Given the description of an element on the screen output the (x, y) to click on. 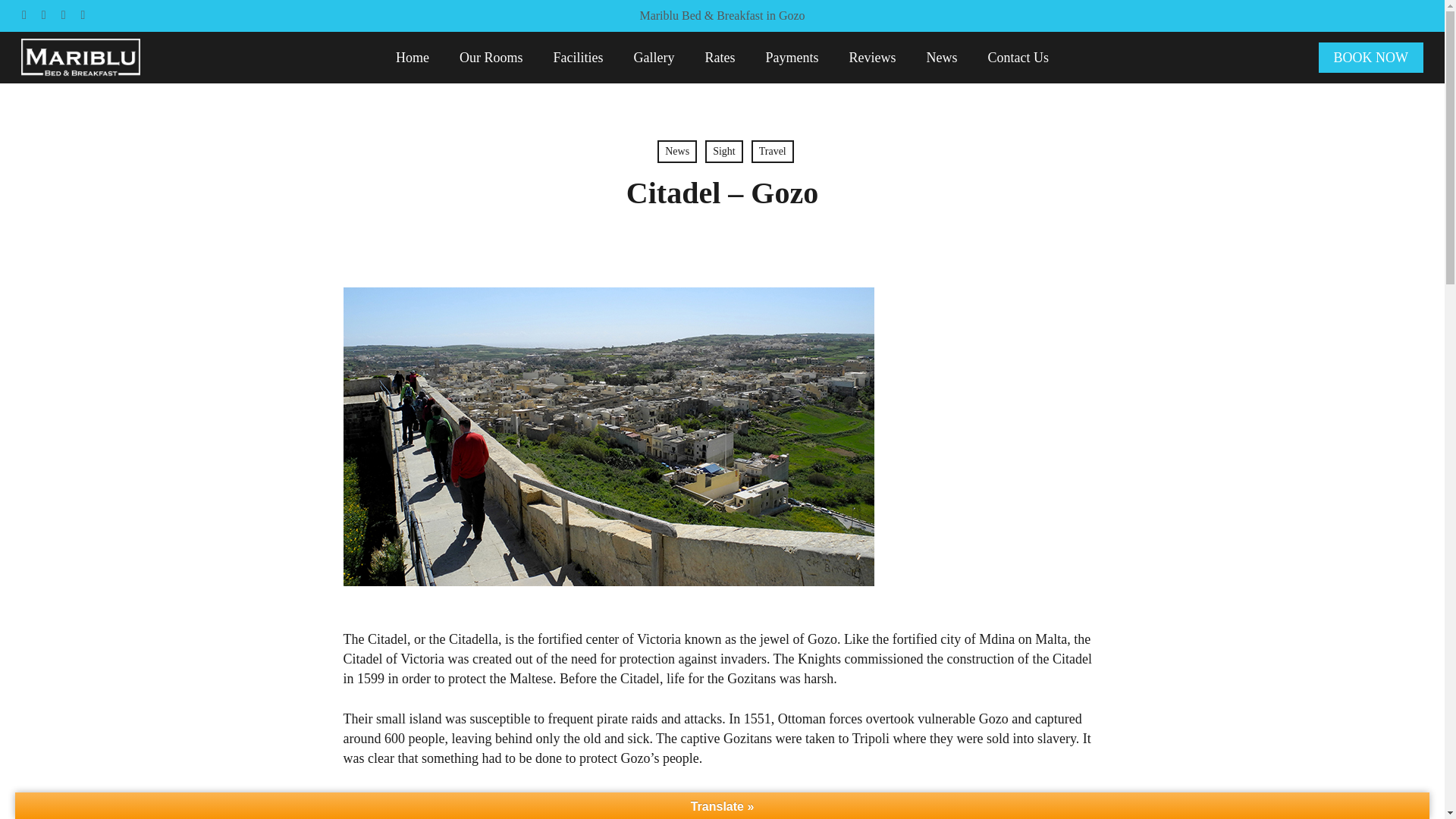
Travel (772, 151)
Our Rooms (491, 57)
BOOK NOW (1370, 57)
News (677, 151)
Contact Us (1017, 57)
Home (412, 57)
Payments (791, 57)
Gallery (654, 57)
News (942, 57)
Rates (719, 57)
